Given the description of an element on the screen output the (x, y) to click on. 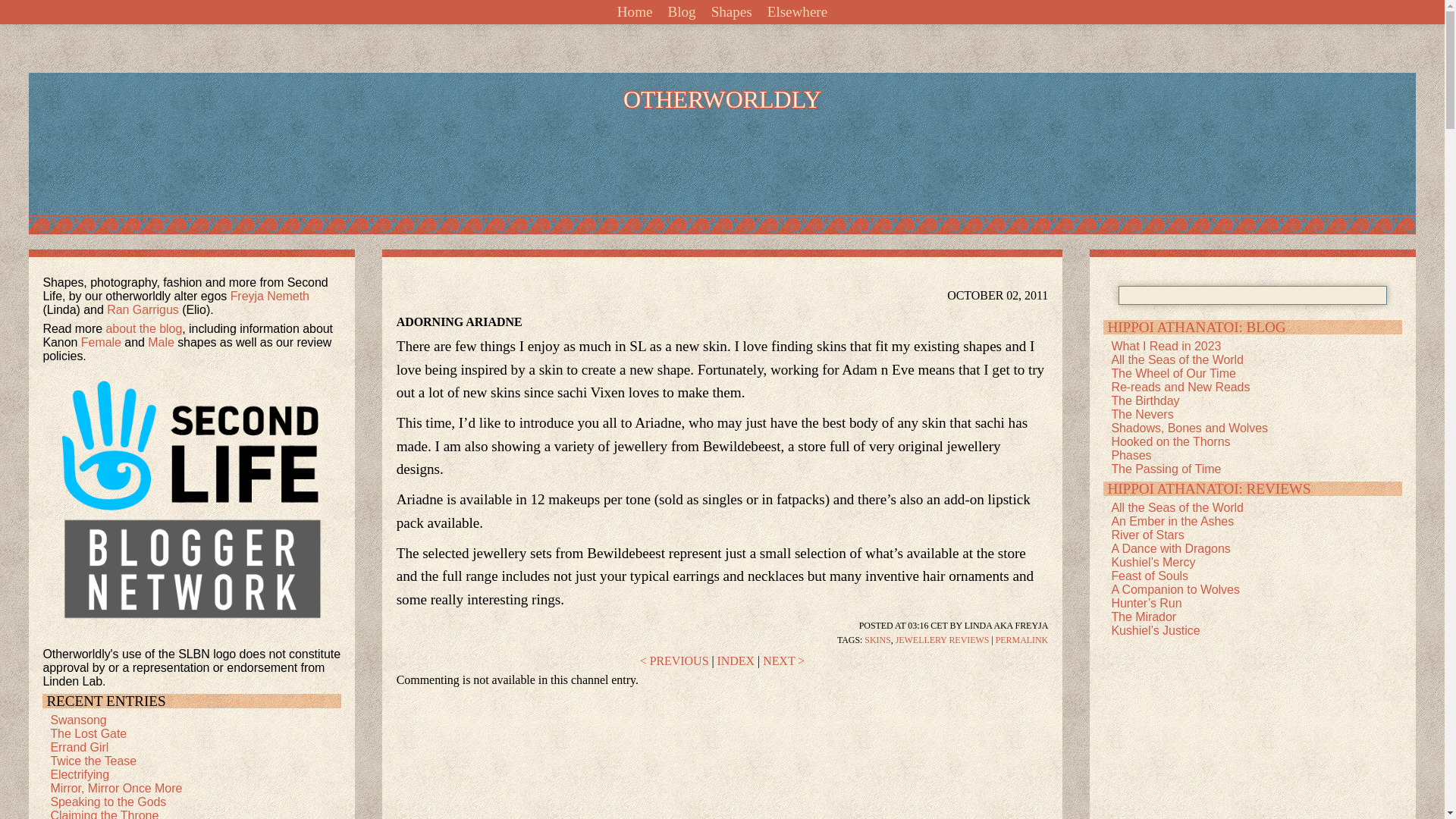
Mirror, Mirror Once More (115, 788)
Home (635, 12)
Second Life Blogger Network (192, 502)
Freyja Nemeth (269, 295)
Twice the Tease (92, 760)
Swansong (77, 719)
Male (161, 341)
Shapes (731, 12)
The Lost Gate (87, 733)
Speaking to the Gods (107, 801)
about the blog (144, 328)
Claiming the Throne (103, 814)
Errand Girl (78, 747)
Blog (681, 12)
Elsewhere (797, 12)
